Given the description of an element on the screen output the (x, y) to click on. 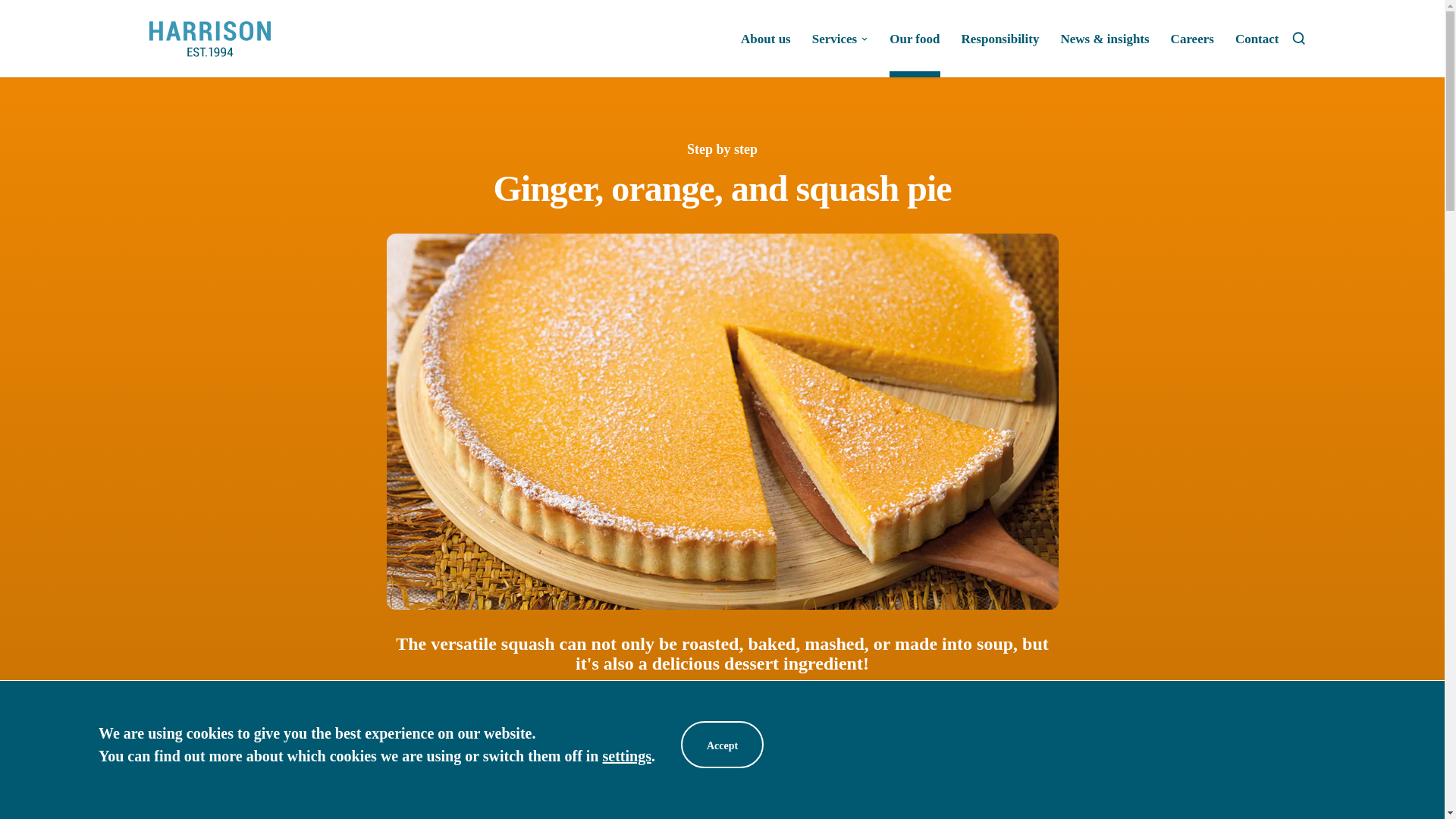
settings (626, 755)
Contact (1256, 53)
Services (839, 53)
About us (765, 53)
Our food (914, 53)
Responsibility (999, 53)
Careers (1192, 53)
